Given the description of an element on the screen output the (x, y) to click on. 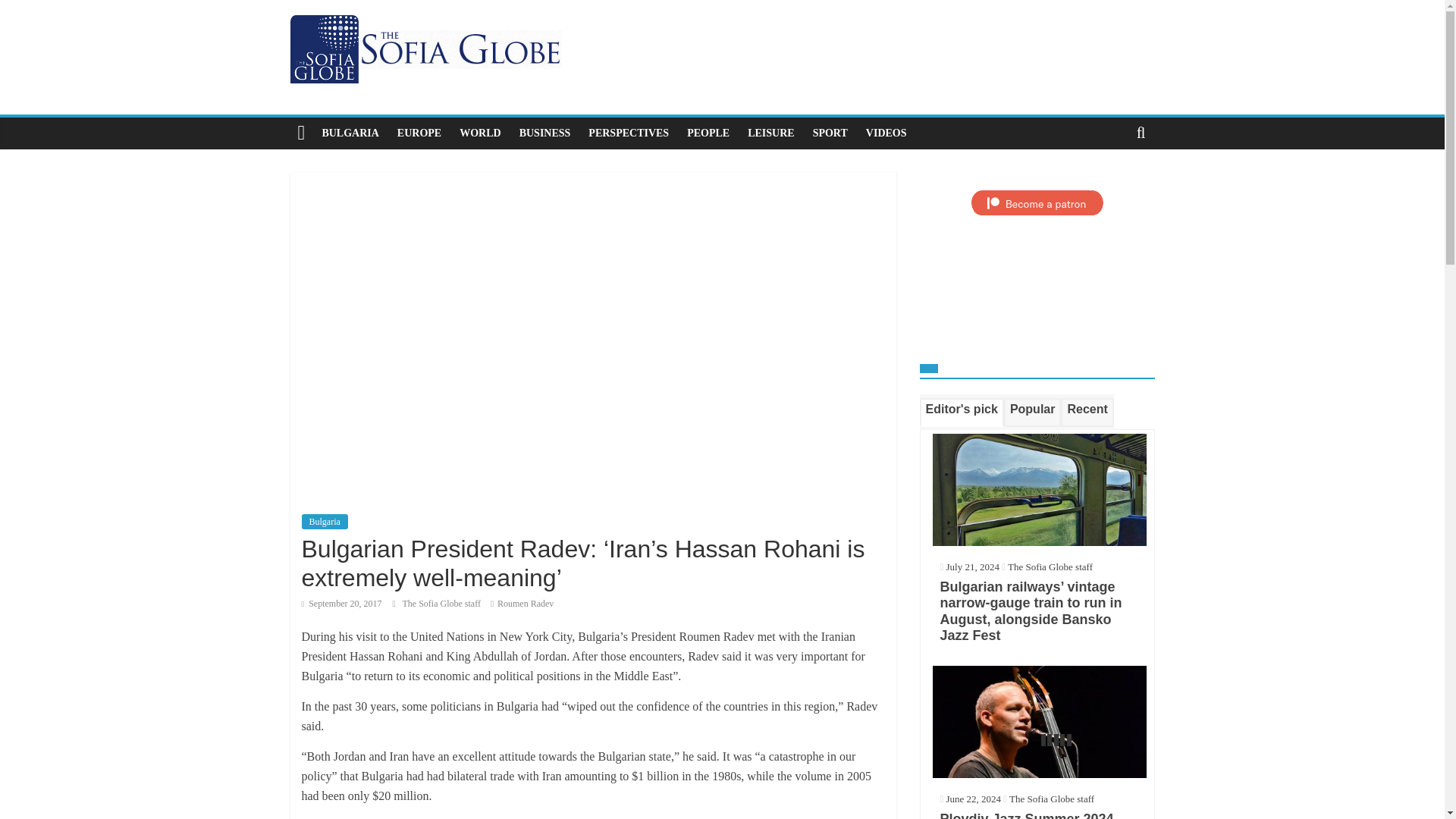
SPORT (830, 133)
7:18 AM (341, 603)
September 20, 2017 (341, 603)
BUSINESS (545, 133)
Roumen Radev (525, 603)
VIDEOS (886, 133)
EUROPE (418, 133)
WORLD (479, 133)
July 21, 2024 (969, 566)
BULGARIA (350, 133)
The Sofia Globe staff (443, 603)
PEOPLE (708, 133)
Bulgaria (324, 521)
The Sofia Globe (301, 133)
PERSPECTIVES (628, 133)
